Given the description of an element on the screen output the (x, y) to click on. 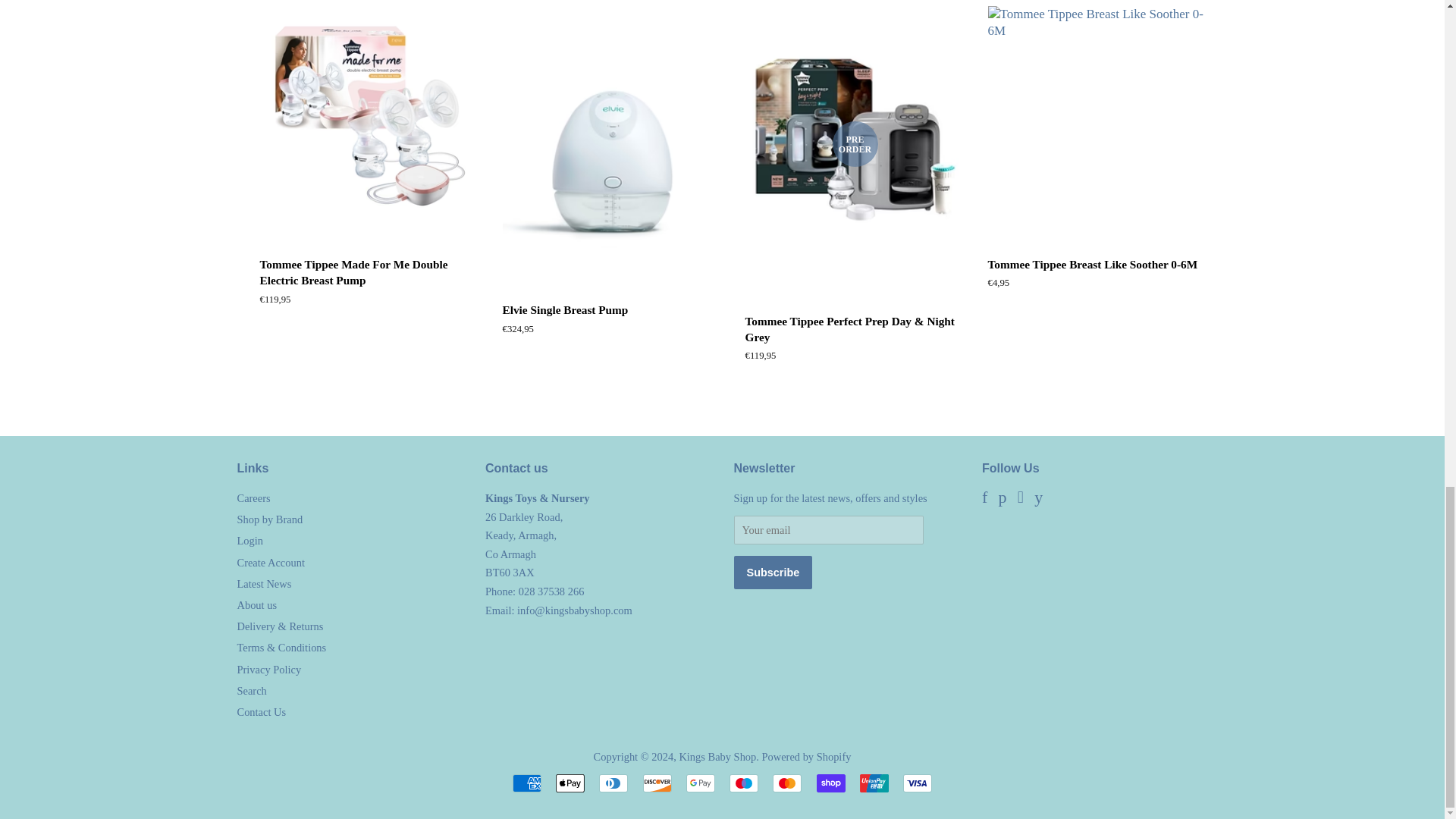
Shop Pay (830, 782)
American Express (526, 782)
Diners Club (612, 782)
Union Pay (874, 782)
Google Pay (699, 782)
Apple Pay (570, 782)
Subscribe (772, 572)
Discover (657, 782)
Mastercard (787, 782)
Maestro (743, 782)
